Given the description of an element on the screen output the (x, y) to click on. 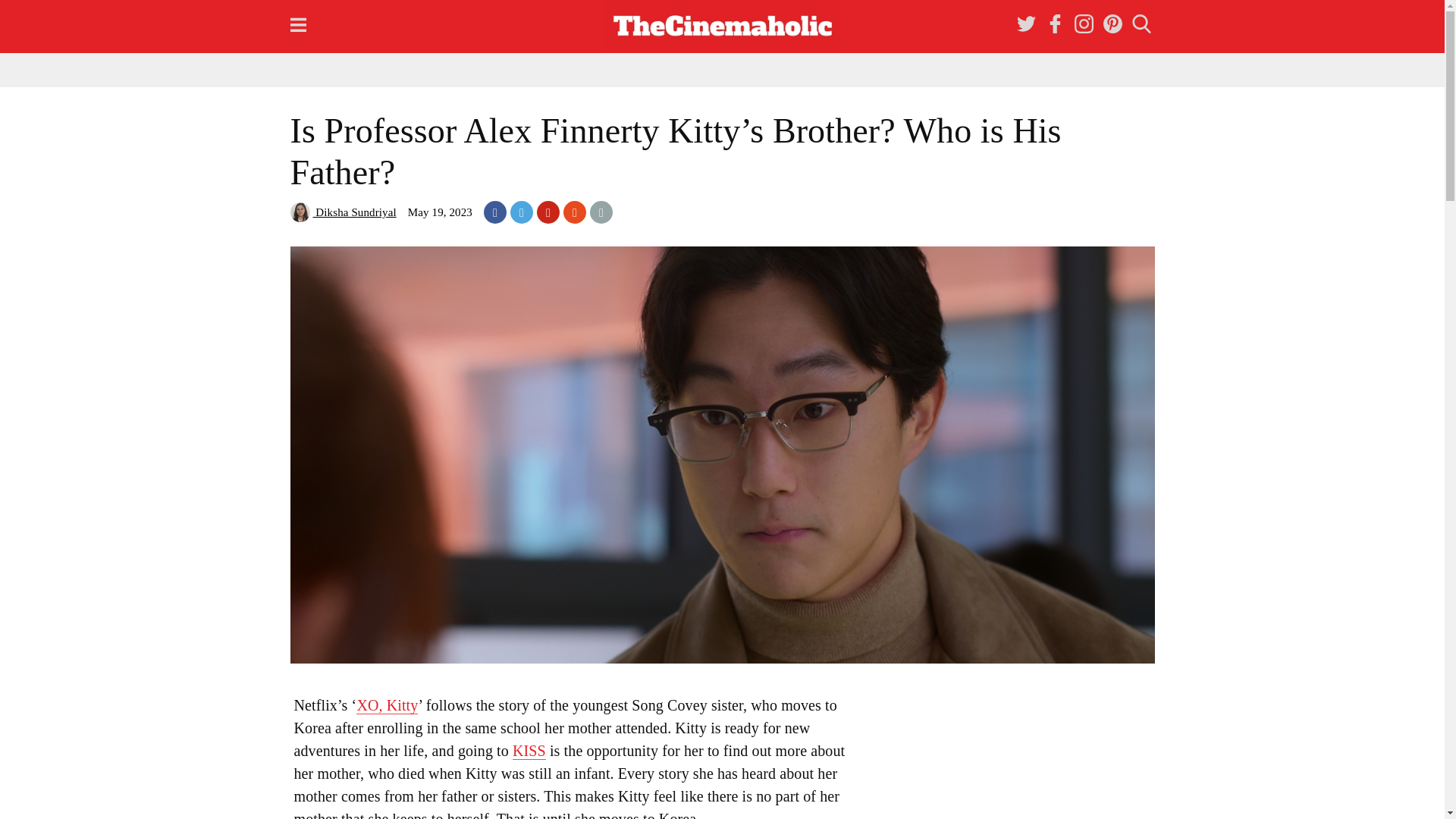
XO, Kitty (386, 705)
Diksha Sundriyal (342, 212)
KISS (529, 751)
